Given the description of an element on the screen output the (x, y) to click on. 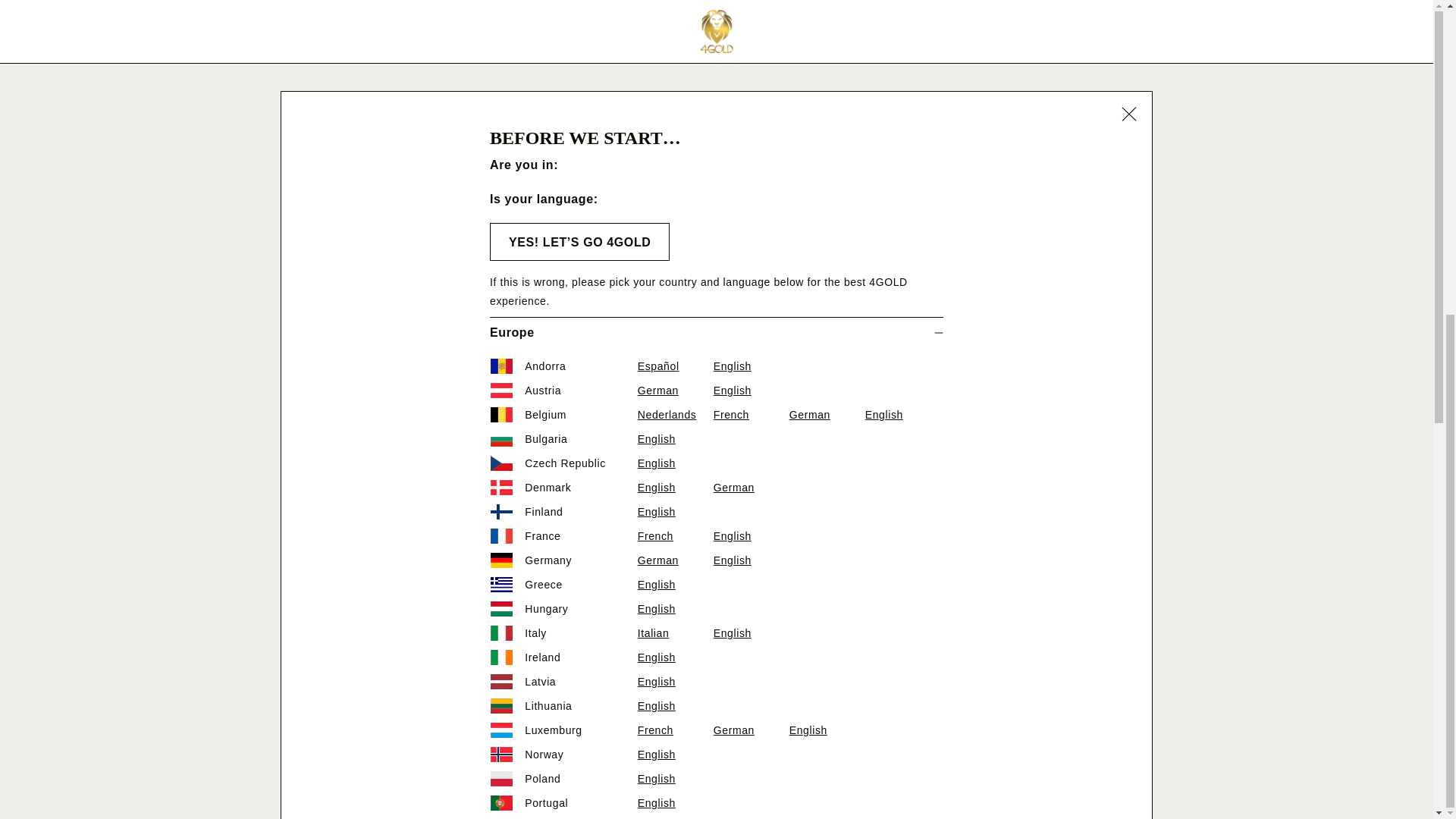
French (675, 226)
English (675, 251)
German (751, 226)
English (675, 275)
English (675, 105)
English (675, 420)
English (751, 56)
French (675, 445)
French (675, 32)
English (675, 202)
English (675, 9)
English (751, 32)
Italian (675, 129)
English (675, 372)
German (675, 56)
